Given the description of an element on the screen output the (x, y) to click on. 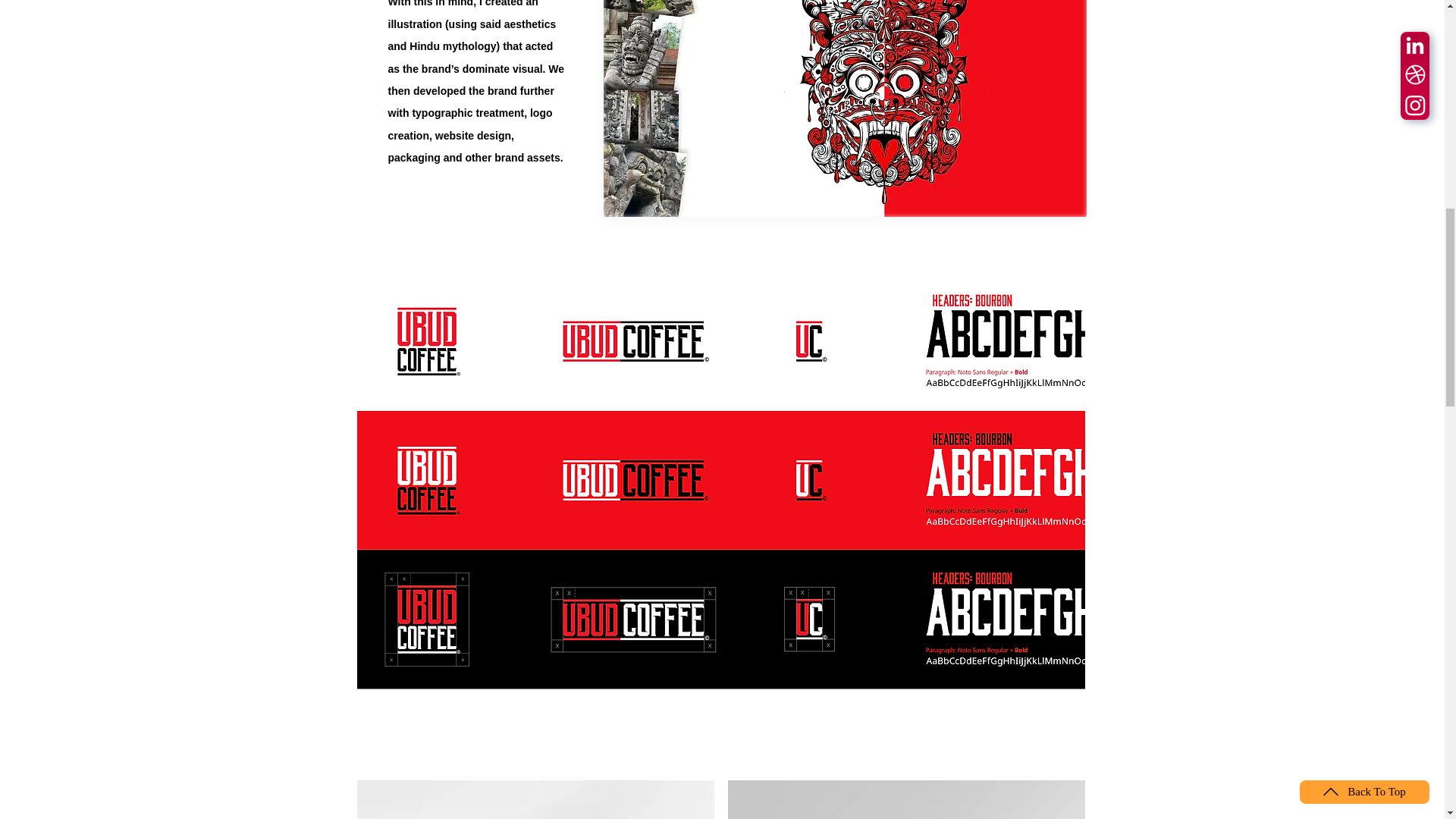
Coffee paper packaging design  (906, 799)
Coffee tin packaging design  (534, 799)
